Given the description of an element on the screen output the (x, y) to click on. 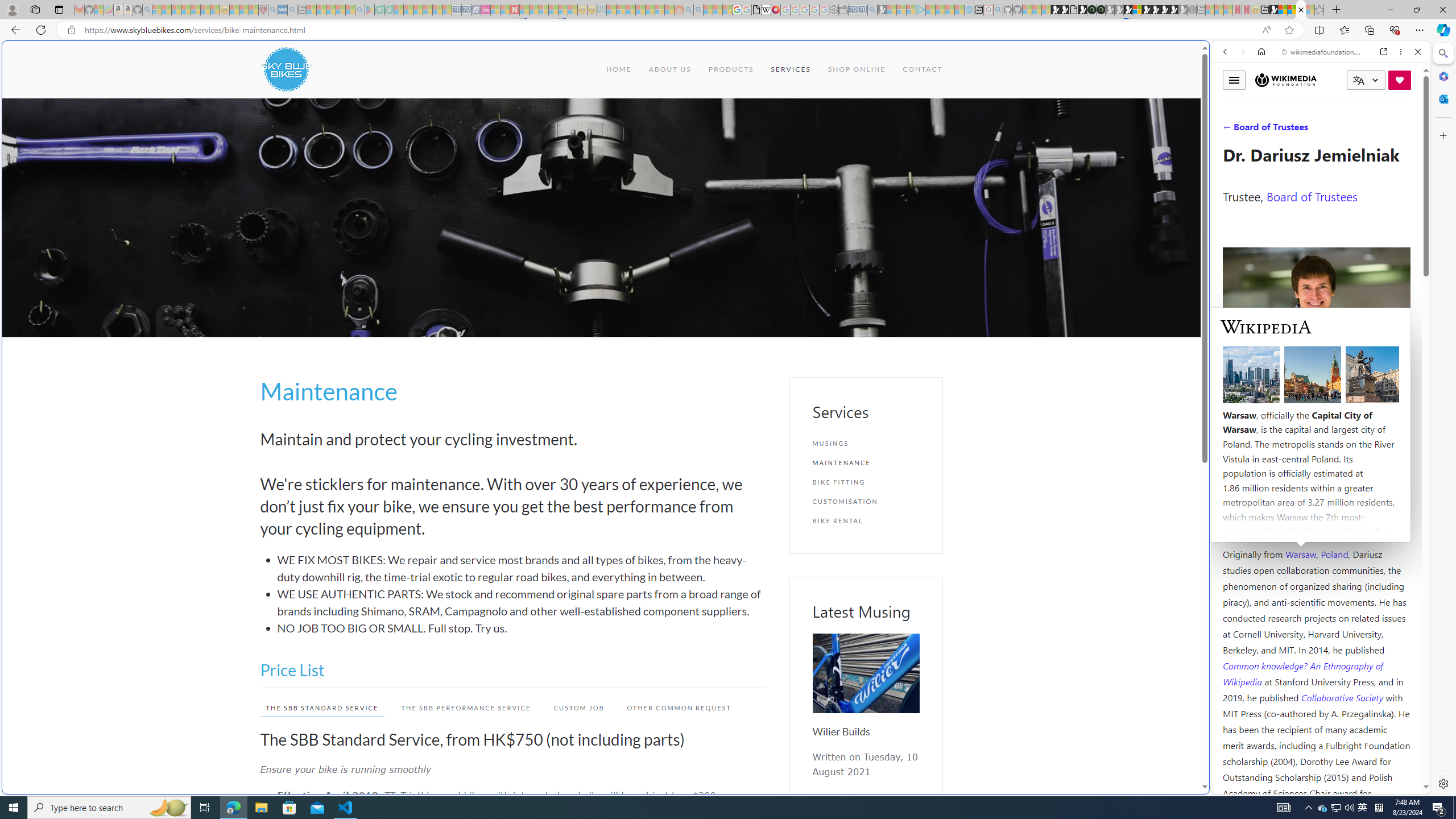
Common knowledge? An Ethnography of Wikipedia (1302, 672)
BIKE RENTAL (865, 520)
Harvard University (1259, 526)
wikimediafoundation.org (1323, 51)
CUSTOM JOB (578, 707)
Wikimedia Foundation (1285, 79)
Earth has six continents not seven, radical new study claims (1291, 9)
Kinda Frugal - MSN - Sleeping (649, 9)
